Given the description of an element on the screen output the (x, y) to click on. 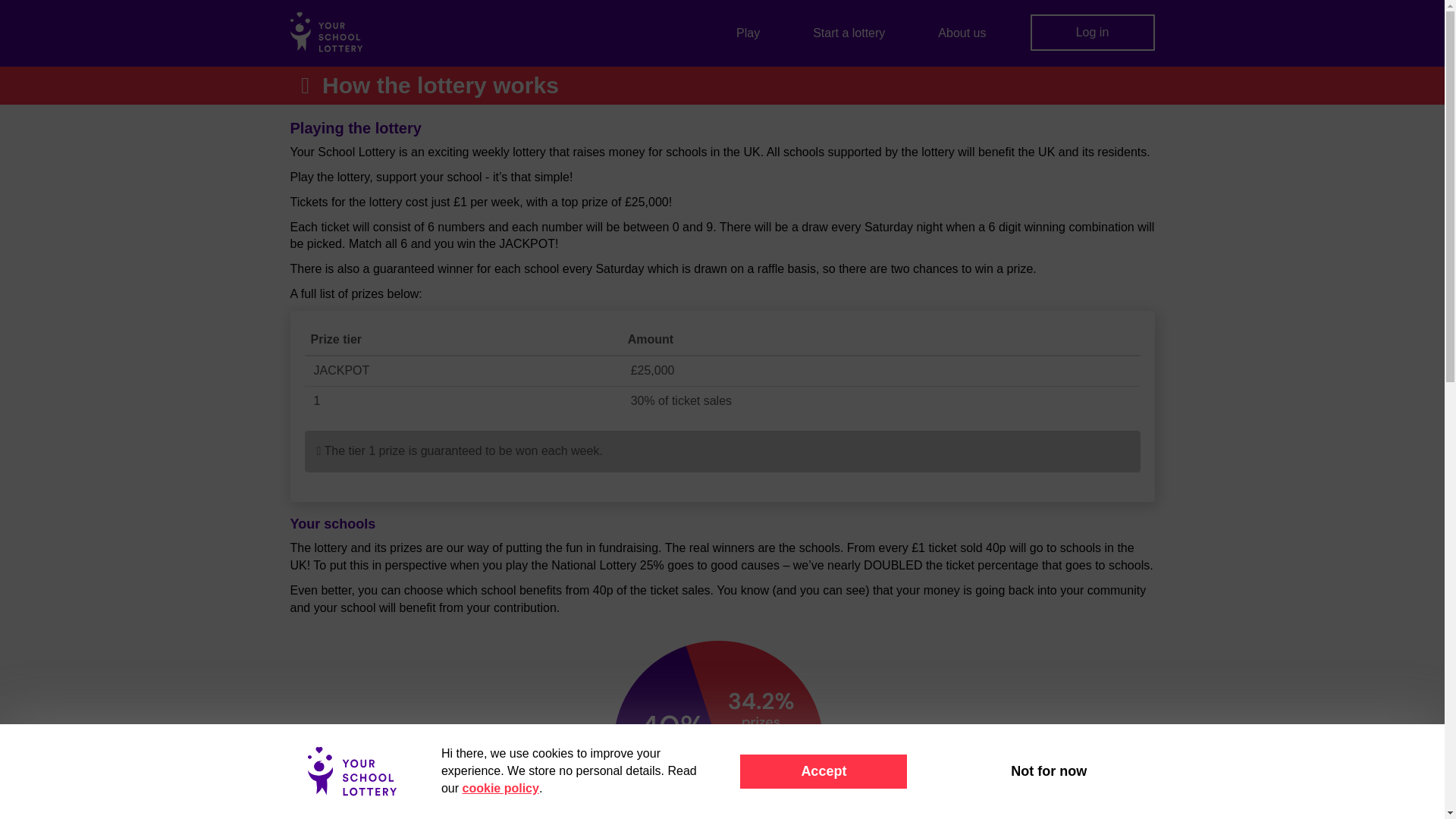
Play (748, 33)
cookie policy (500, 788)
Start a lottery (849, 33)
Not for now (1048, 770)
About us (961, 33)
Log in (1091, 32)
Accept (823, 770)
